Given the description of an element on the screen output the (x, y) to click on. 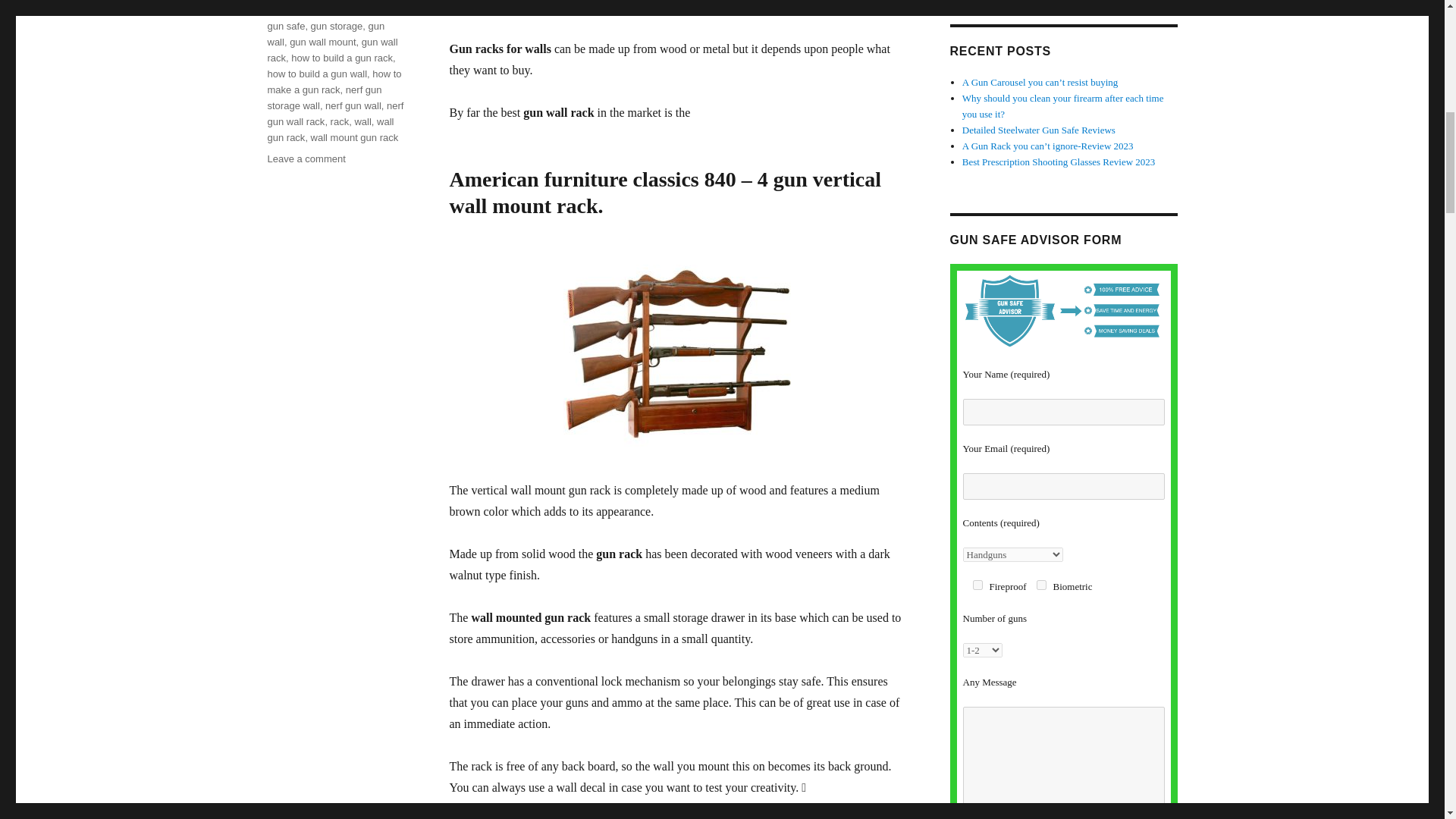
gun racks (318, 9)
gun wall rack (331, 49)
Biometric (1041, 584)
Fireproof (976, 584)
gun wall mount (322, 41)
gun safe (285, 25)
gun storage (336, 25)
gun rack ideas (328, 7)
gun room (364, 9)
gun wall (325, 33)
